Given the description of an element on the screen output the (x, y) to click on. 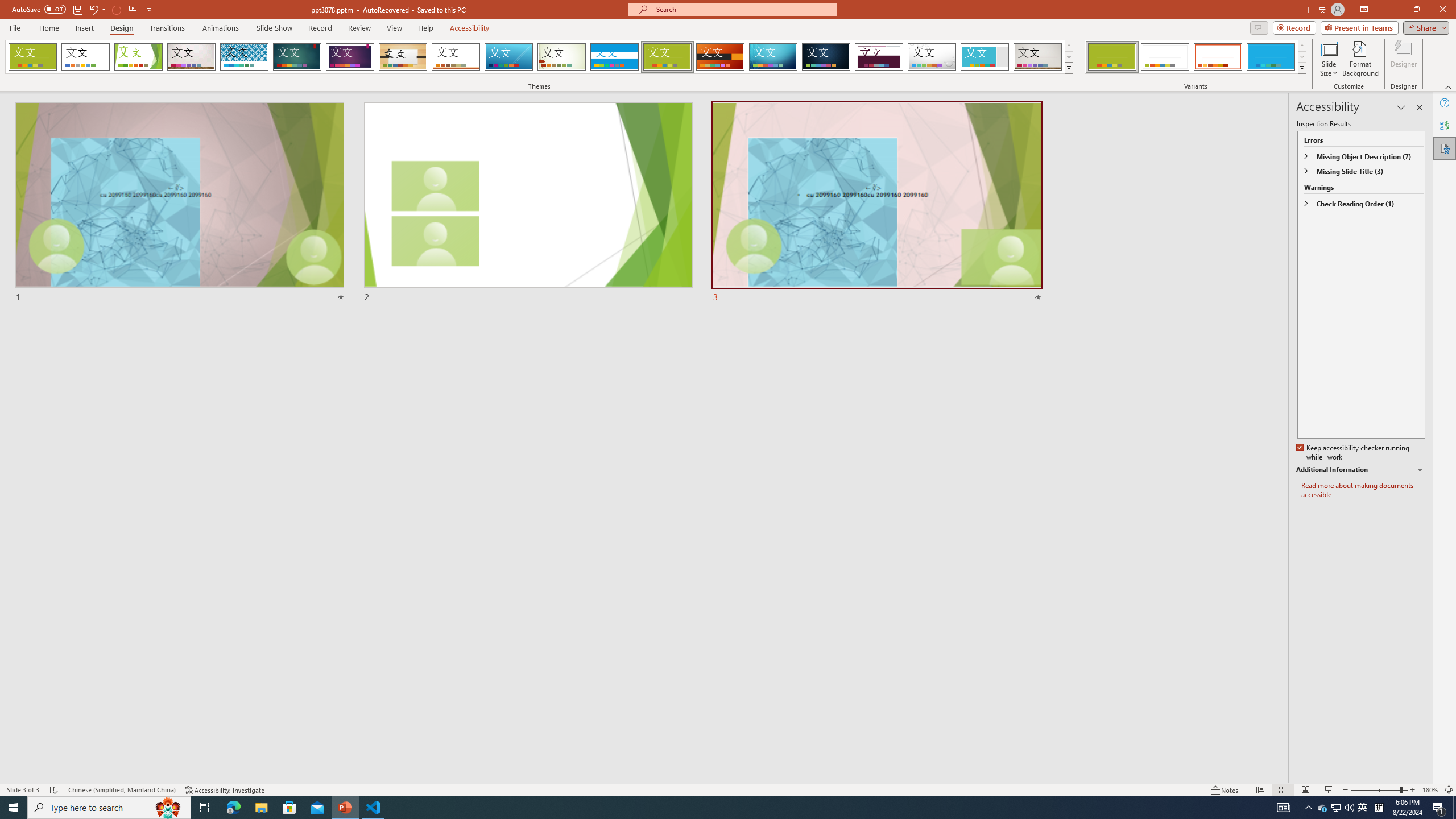
Themes (1068, 67)
AutomationID: SlideThemesGallery (539, 56)
Basis Variant 3 (1217, 56)
Organic (403, 56)
Basis Variant 2 (1164, 56)
Banded (614, 56)
